Given the description of an element on the screen output the (x, y) to click on. 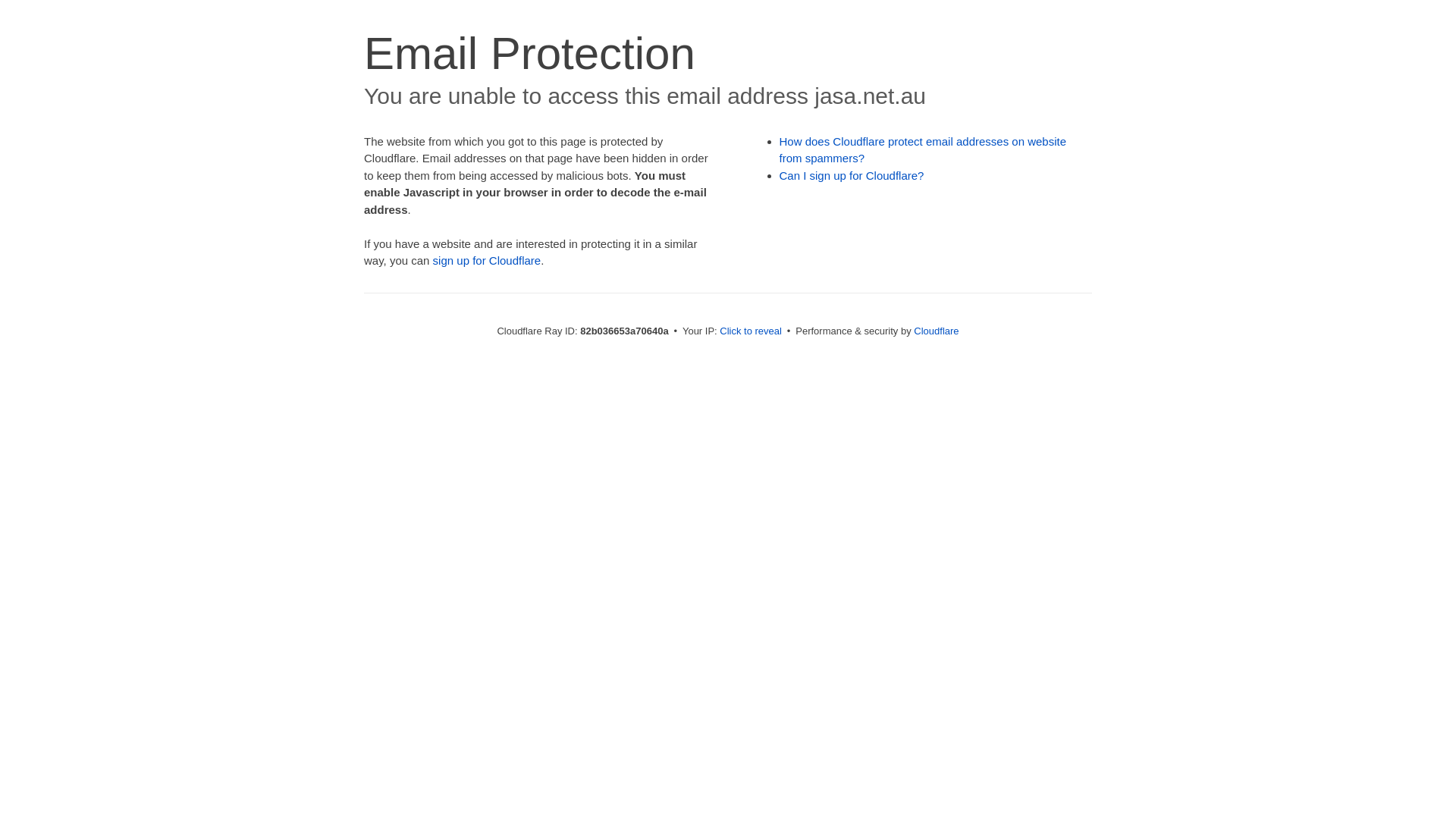
Can I sign up for Cloudflare? Element type: text (851, 175)
Cloudflare Element type: text (935, 330)
Click to reveal Element type: text (750, 330)
sign up for Cloudflare Element type: text (487, 260)
